Given the description of an element on the screen output the (x, y) to click on. 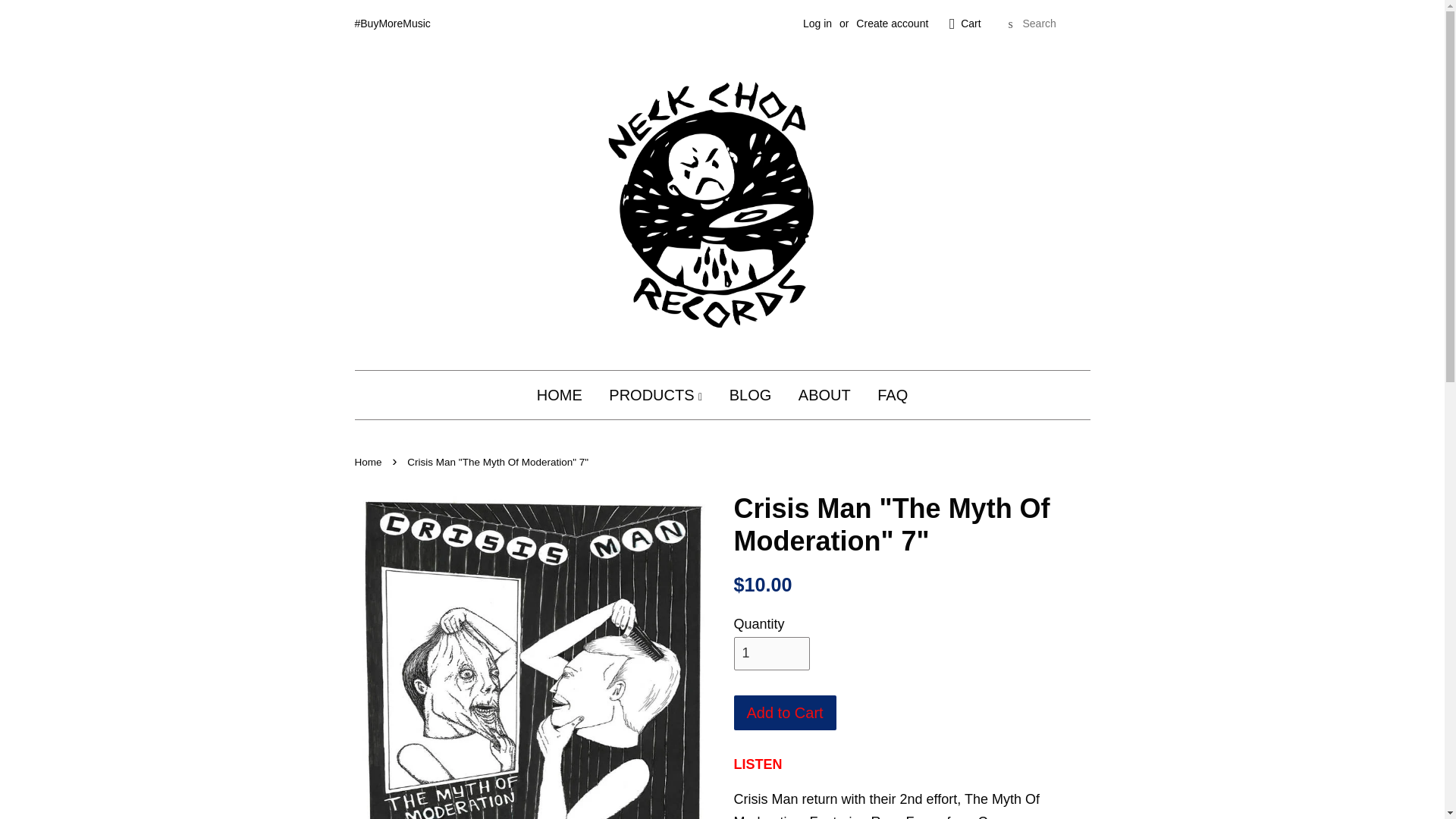
1 (771, 653)
Search (1010, 24)
BLOG (750, 395)
ABOUT (824, 395)
Create account (892, 23)
LISTEN (758, 764)
PRODUCTS (654, 395)
Back to the frontpage (370, 461)
HOME (565, 395)
Add to Cart (784, 712)
Cart (969, 24)
Home (370, 461)
Log in (817, 23)
